Given the description of an element on the screen output the (x, y) to click on. 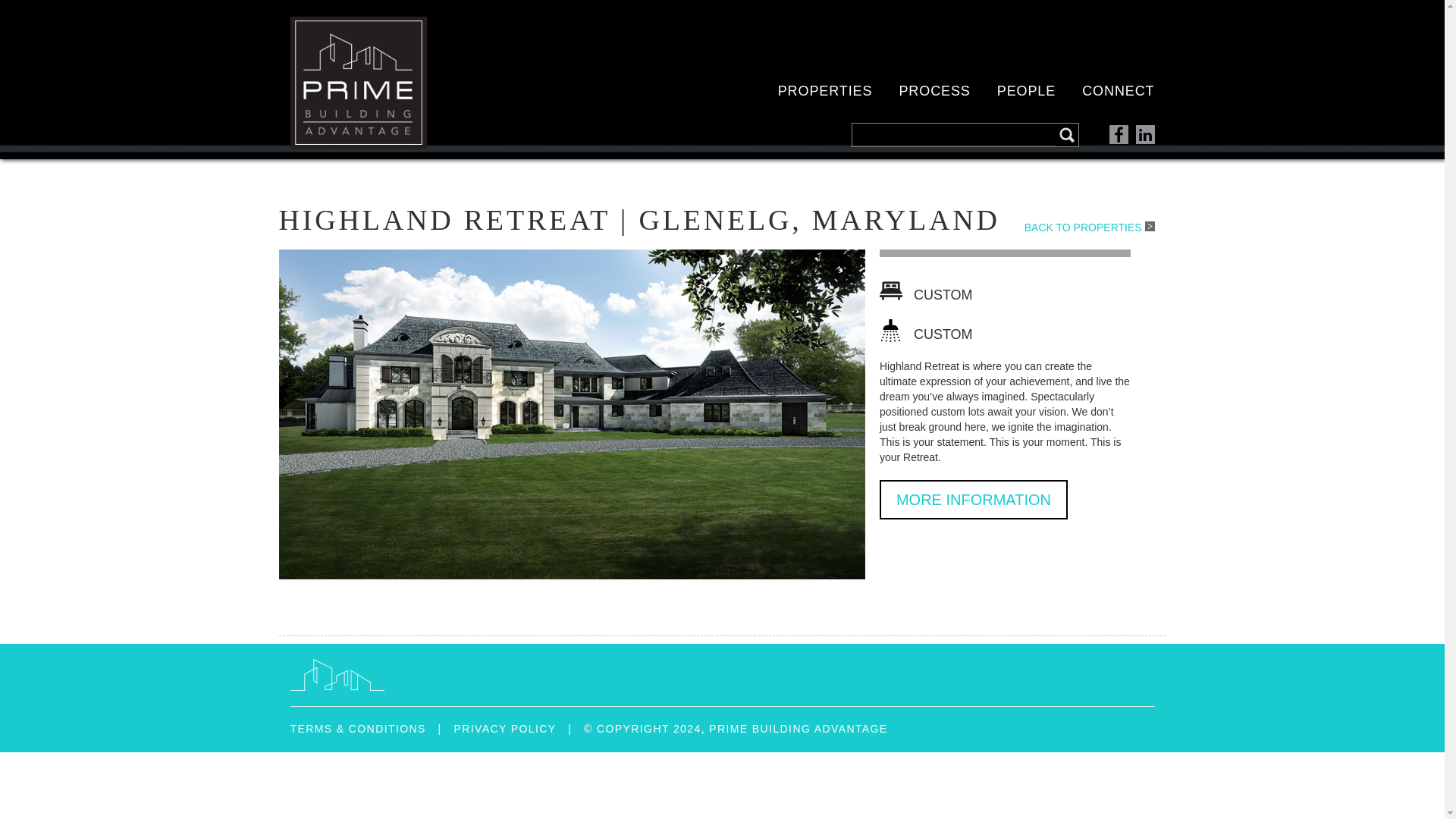
CONNECT (1117, 91)
PRIVACY POLICY (504, 728)
PROPERTIES (824, 91)
PROCESS (933, 91)
PEOPLE (1026, 91)
BACK TO PROPERTIES (1095, 227)
MORE INFORMATION (973, 499)
